Given the description of an element on the screen output the (x, y) to click on. 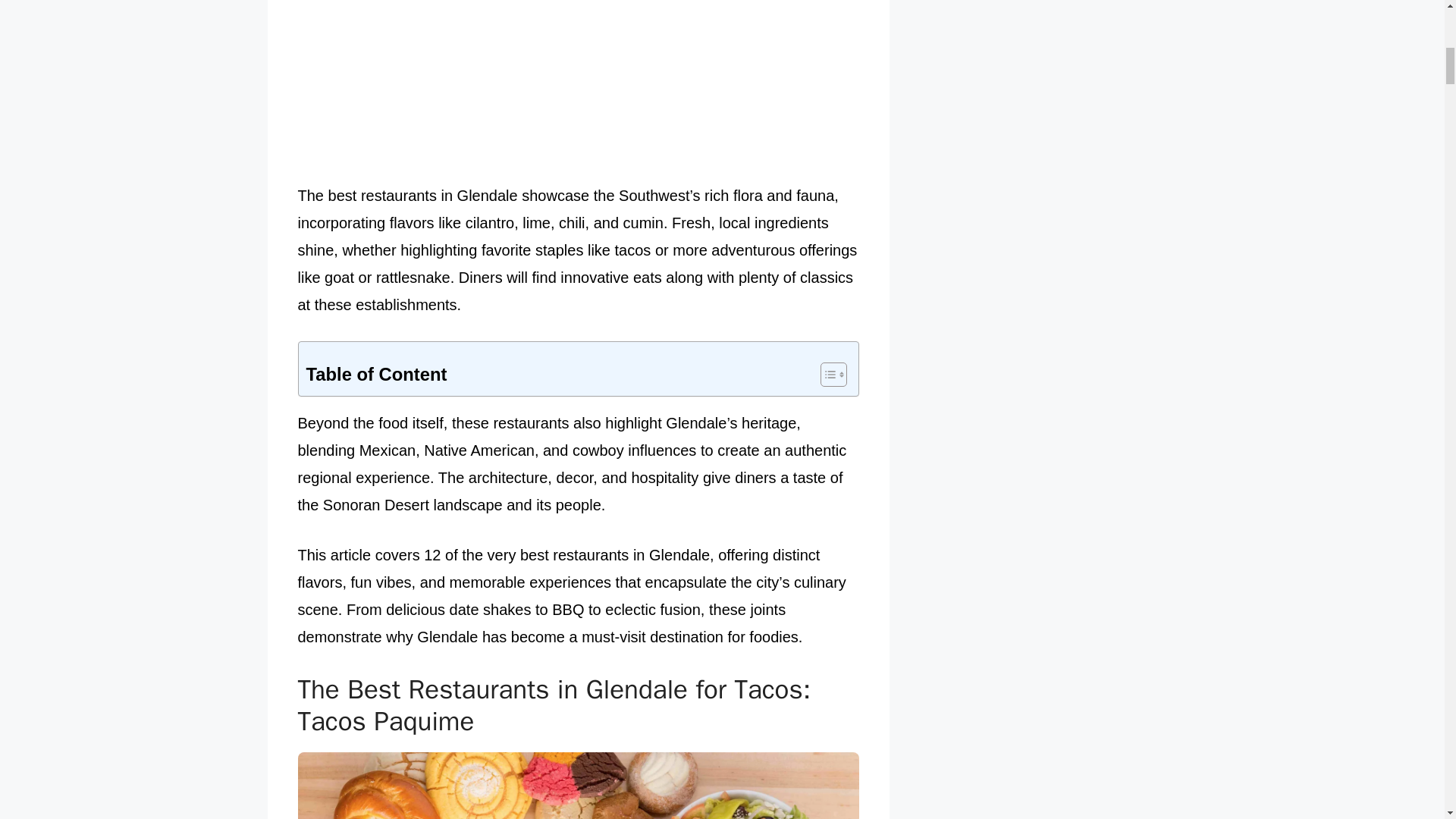
Advertisement (578, 88)
